Given the description of an element on the screen output the (x, y) to click on. 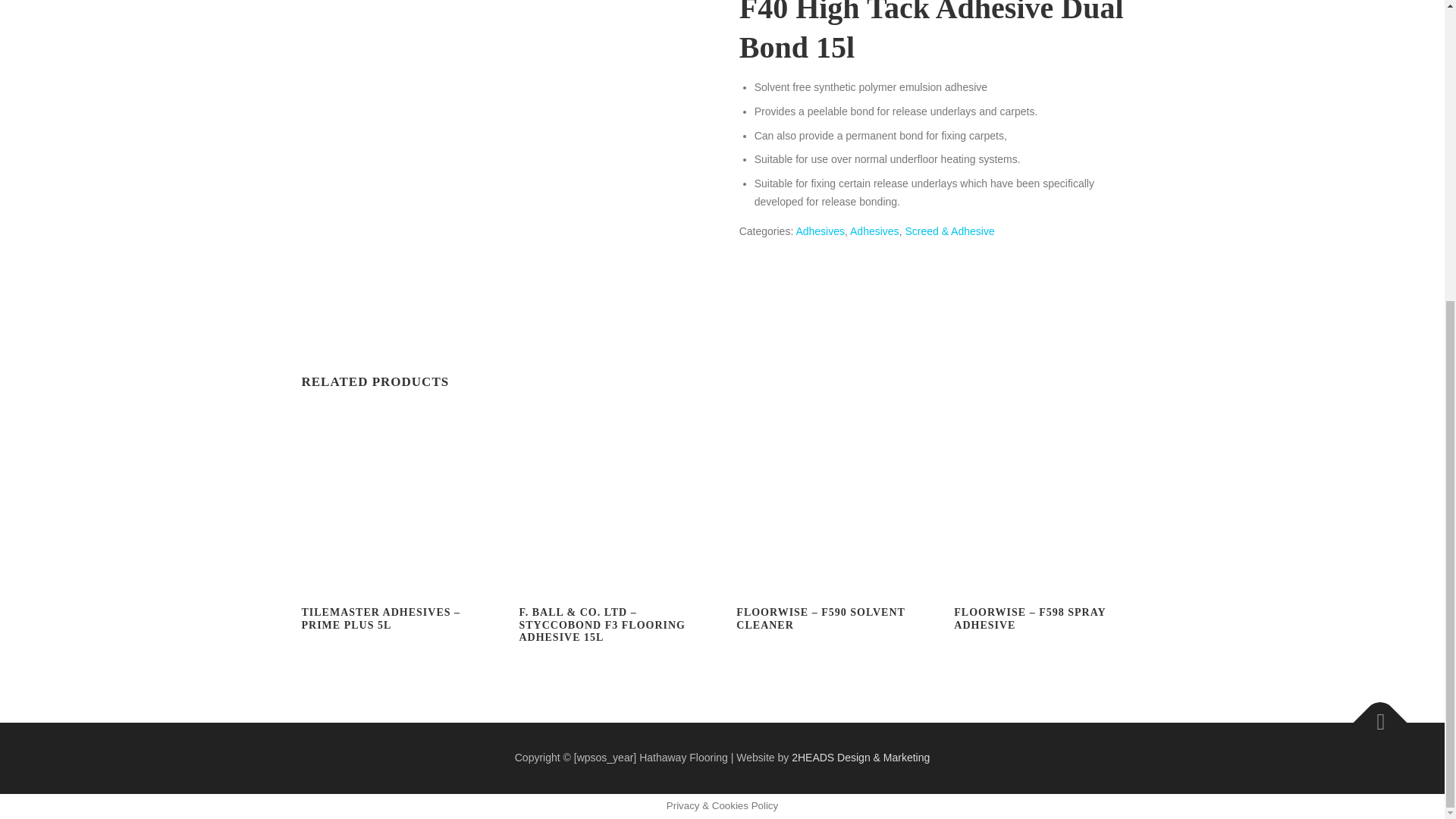
Adhesives (819, 231)
Back To Top (1372, 714)
Adhesives (874, 231)
